Given the description of an element on the screen output the (x, y) to click on. 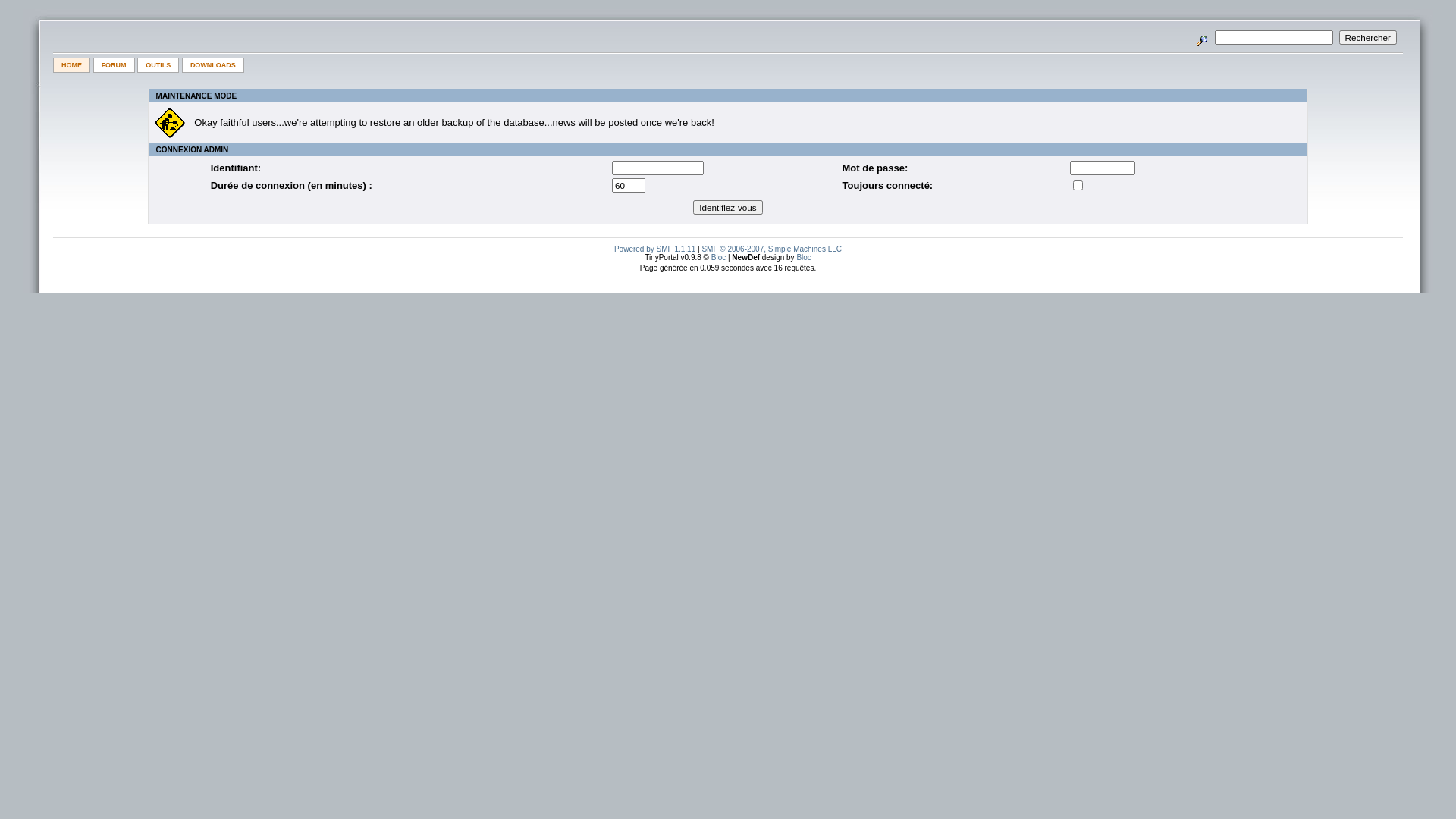
DOWNLOADS Element type: text (213, 64)
HOME Element type: text (71, 64)
Bloc Element type: text (718, 257)
Rechercher Element type: text (1367, 37)
Bloc Element type: text (803, 257)
FORUM Element type: text (113, 64)
Powered by SMF 1.1.11 Element type: text (654, 248)
Identifiez-vous Element type: text (727, 207)
OUTILS Element type: text (157, 64)
